Given the description of an element on the screen output the (x, y) to click on. 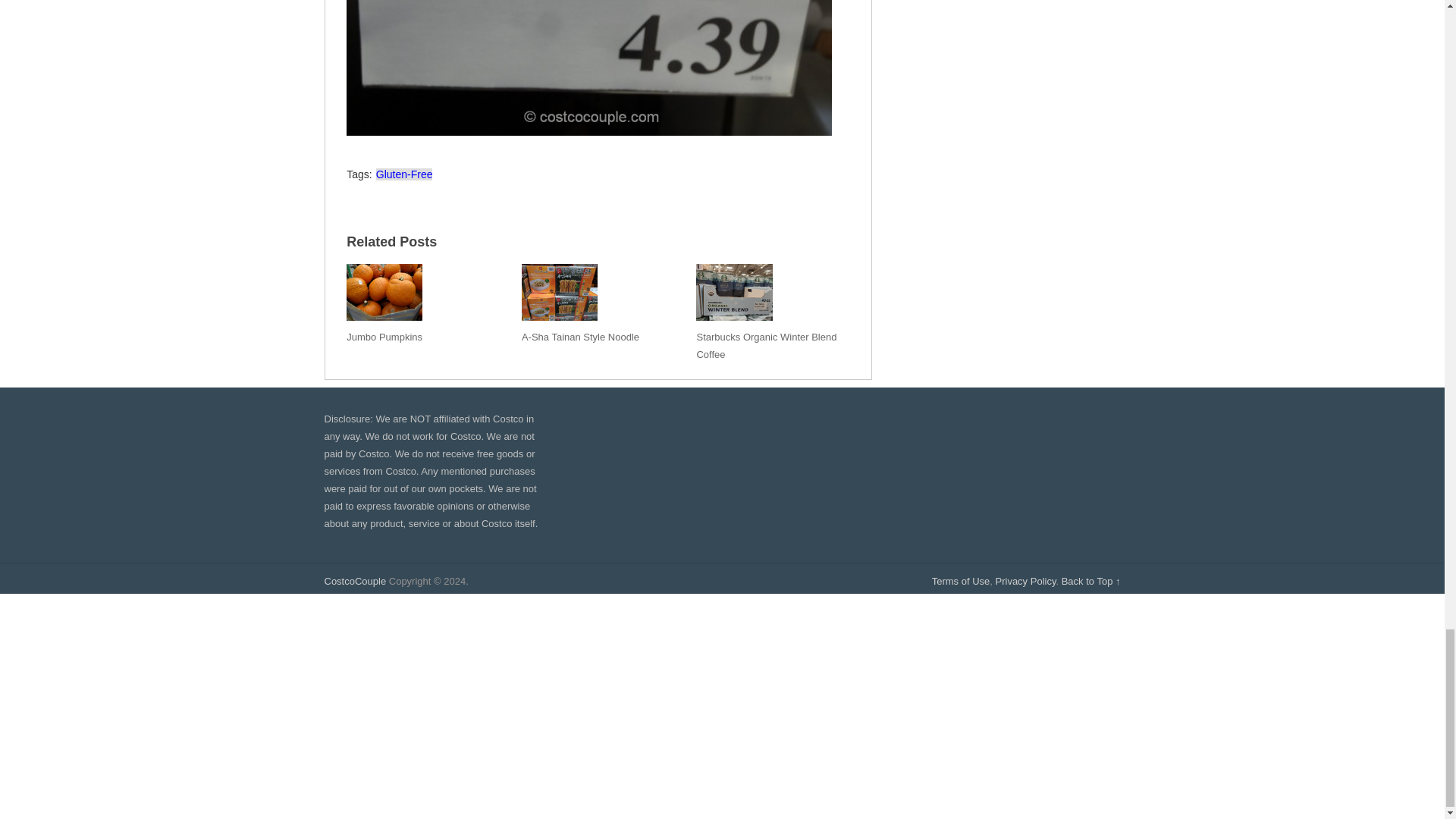
Gluten-Free (403, 174)
Shenson Corned Beef Round Costco (588, 67)
